Given the description of an element on the screen output the (x, y) to click on. 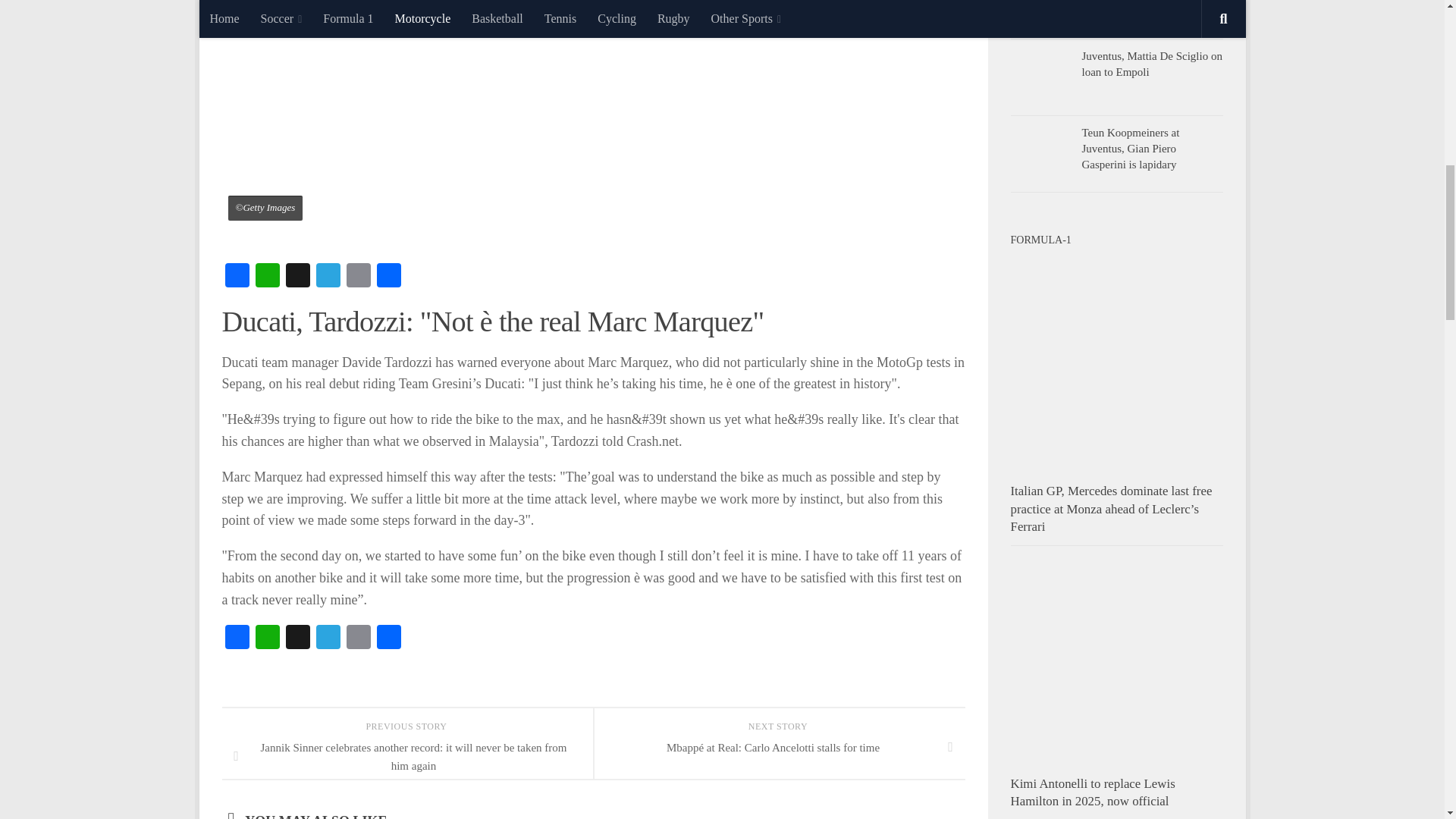
Facebook (236, 638)
WhatsApp (266, 276)
Facebook (236, 276)
Facebook (236, 276)
Telegram (327, 638)
Email (357, 276)
Telegram (327, 276)
Email (357, 638)
X (297, 638)
X (297, 276)
